Given the description of an element on the screen output the (x, y) to click on. 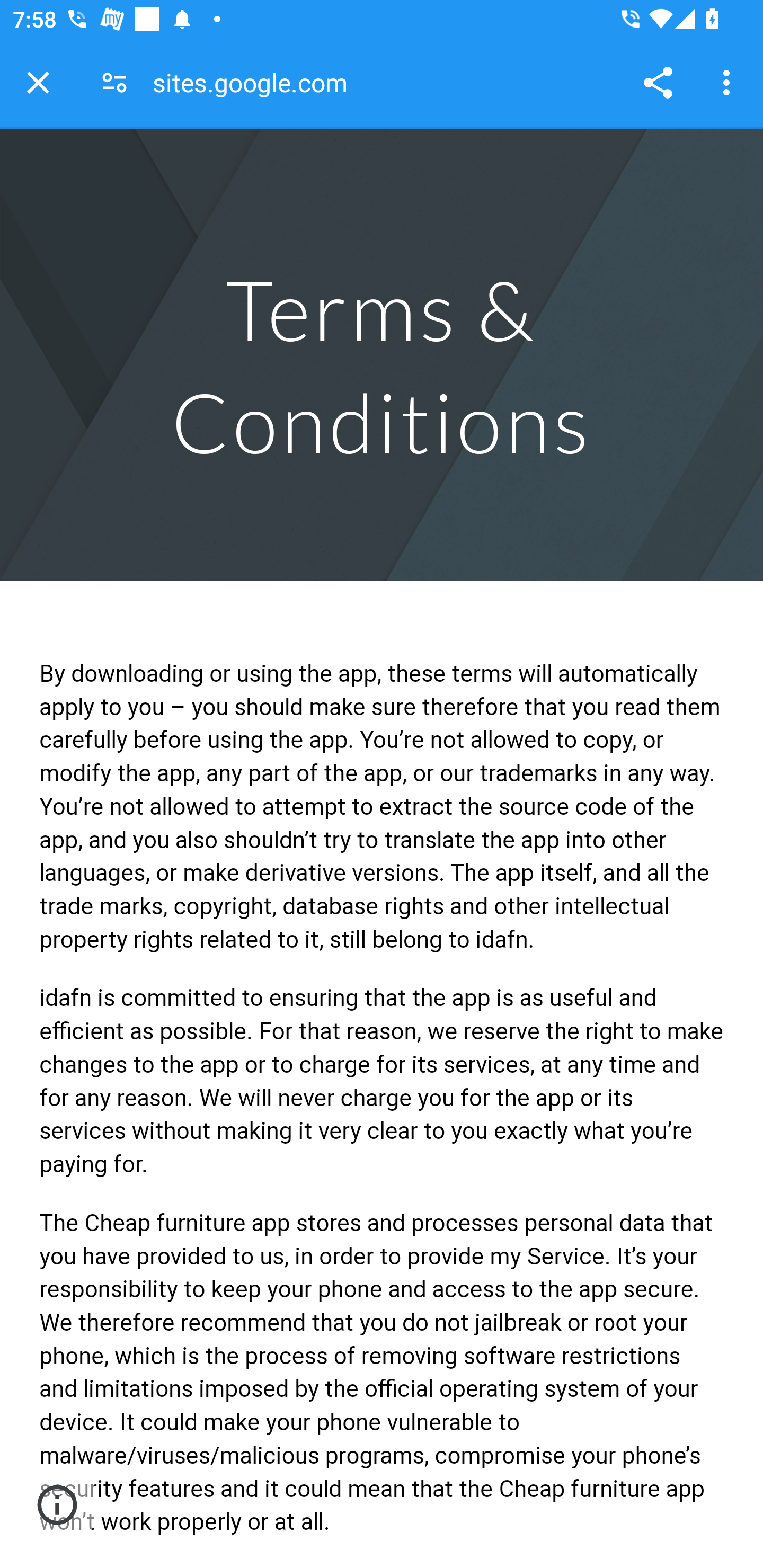
Close tab (38, 82)
Share (657, 82)
Customize and control Google Chrome (729, 82)
Connection is secure (114, 81)
sites.google.com (256, 81)
Site actions (57, 1504)
